Given the description of an element on the screen output the (x, y) to click on. 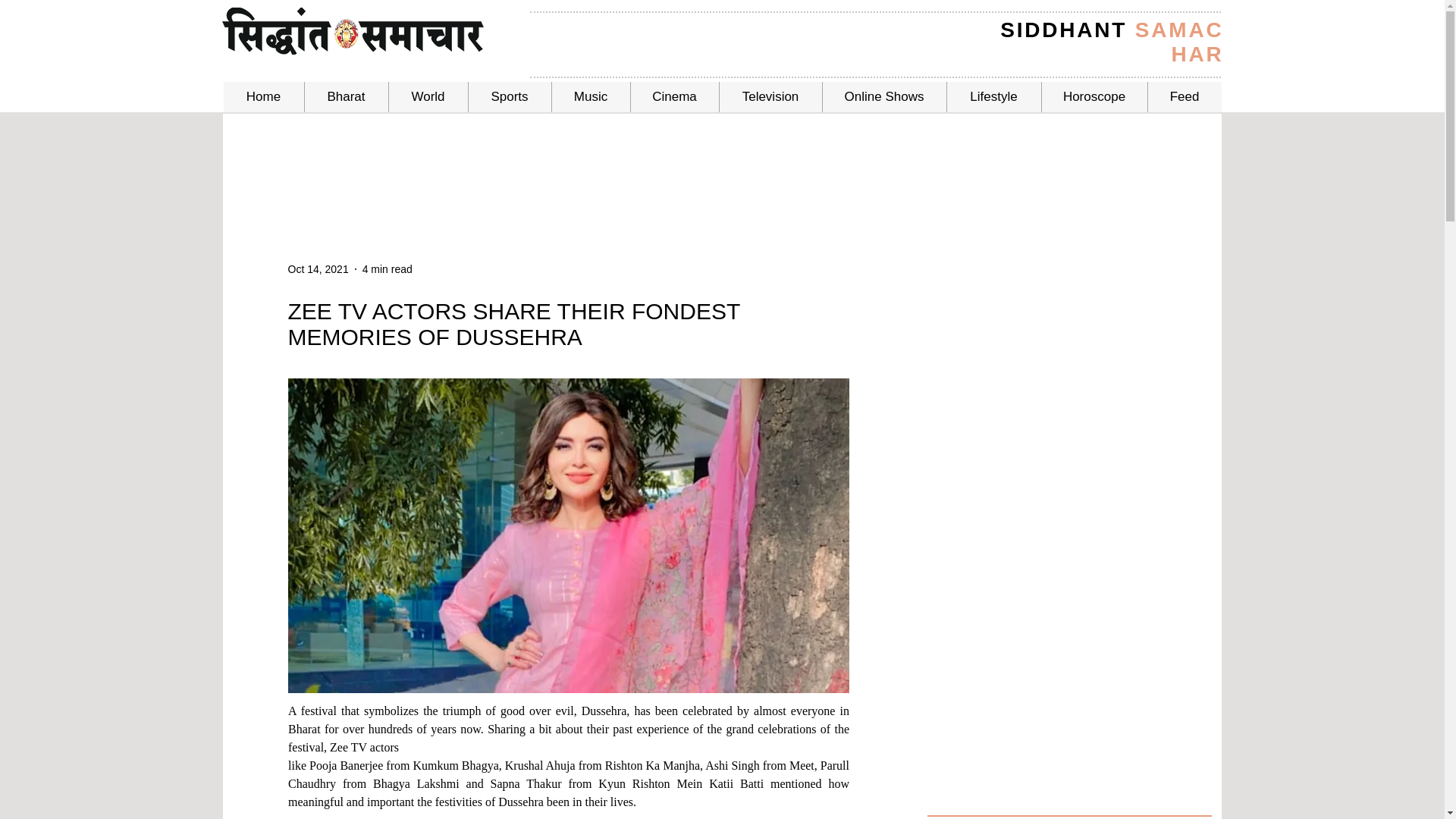
4 min read (387, 268)
SIDDHANT SAMACHAR (1111, 42)
Oct 14, 2021 (318, 268)
Lifestyle (993, 96)
Siddhant Samachar (352, 30)
Television (770, 96)
Feed (1184, 96)
Sports (508, 96)
Home (262, 96)
Online Shows (884, 96)
